Given the description of an element on the screen output the (x, y) to click on. 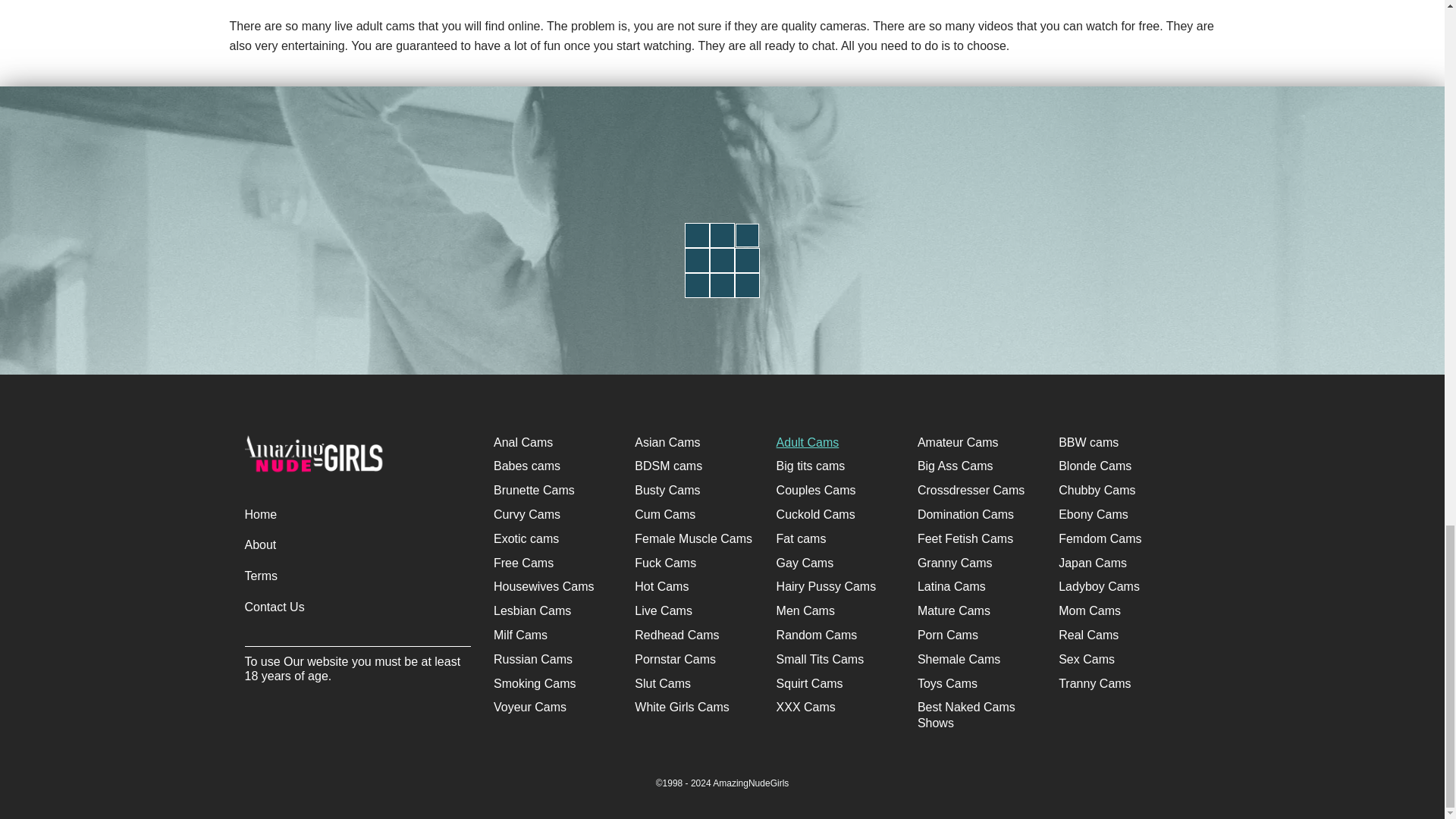
Home (260, 514)
